Given the description of an element on the screen output the (x, y) to click on. 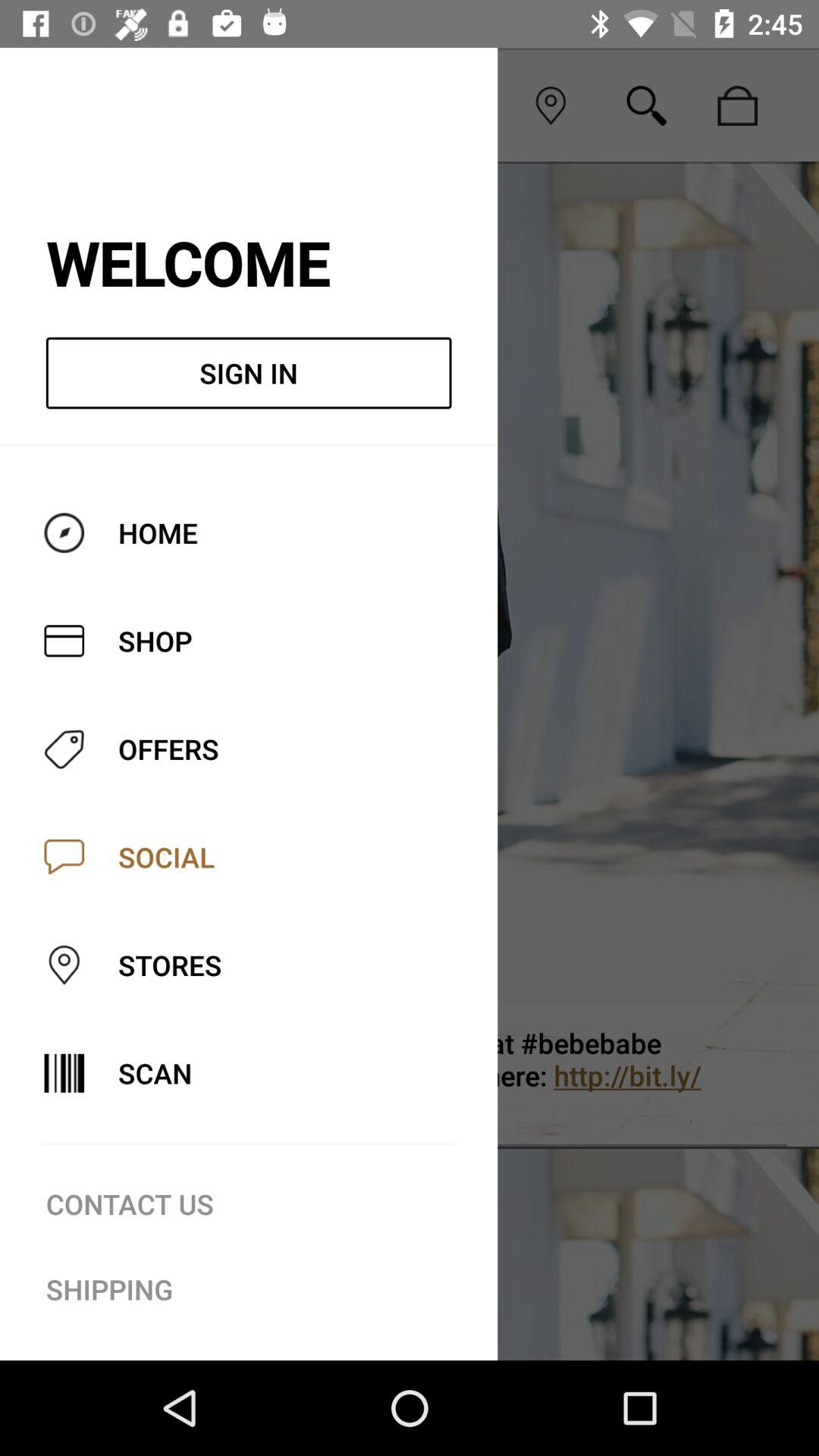
press sign in (248, 372)
